Given the description of an element on the screen output the (x, y) to click on. 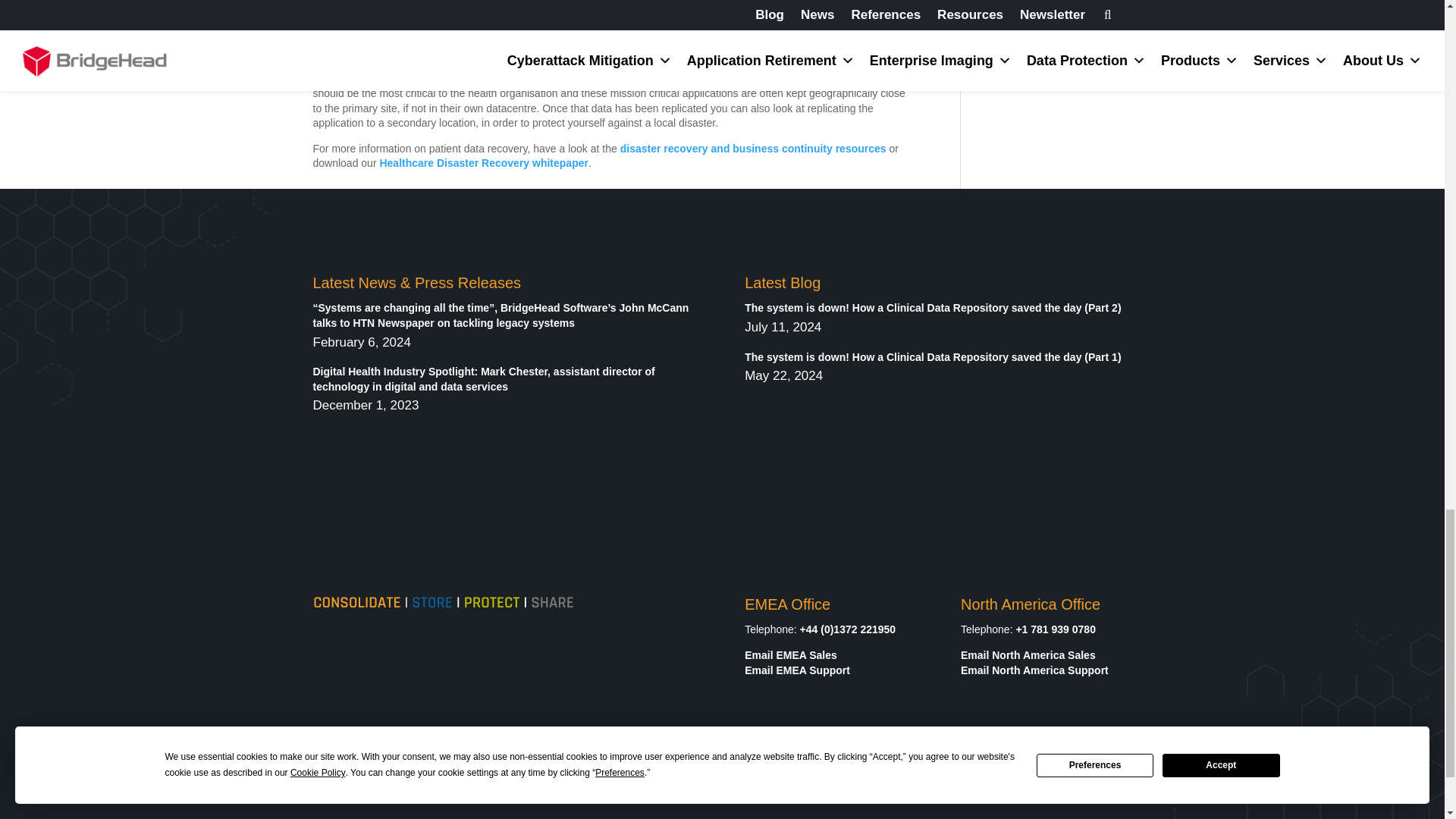
New Footer Logo (443, 603)
